Given the description of an element on the screen output the (x, y) to click on. 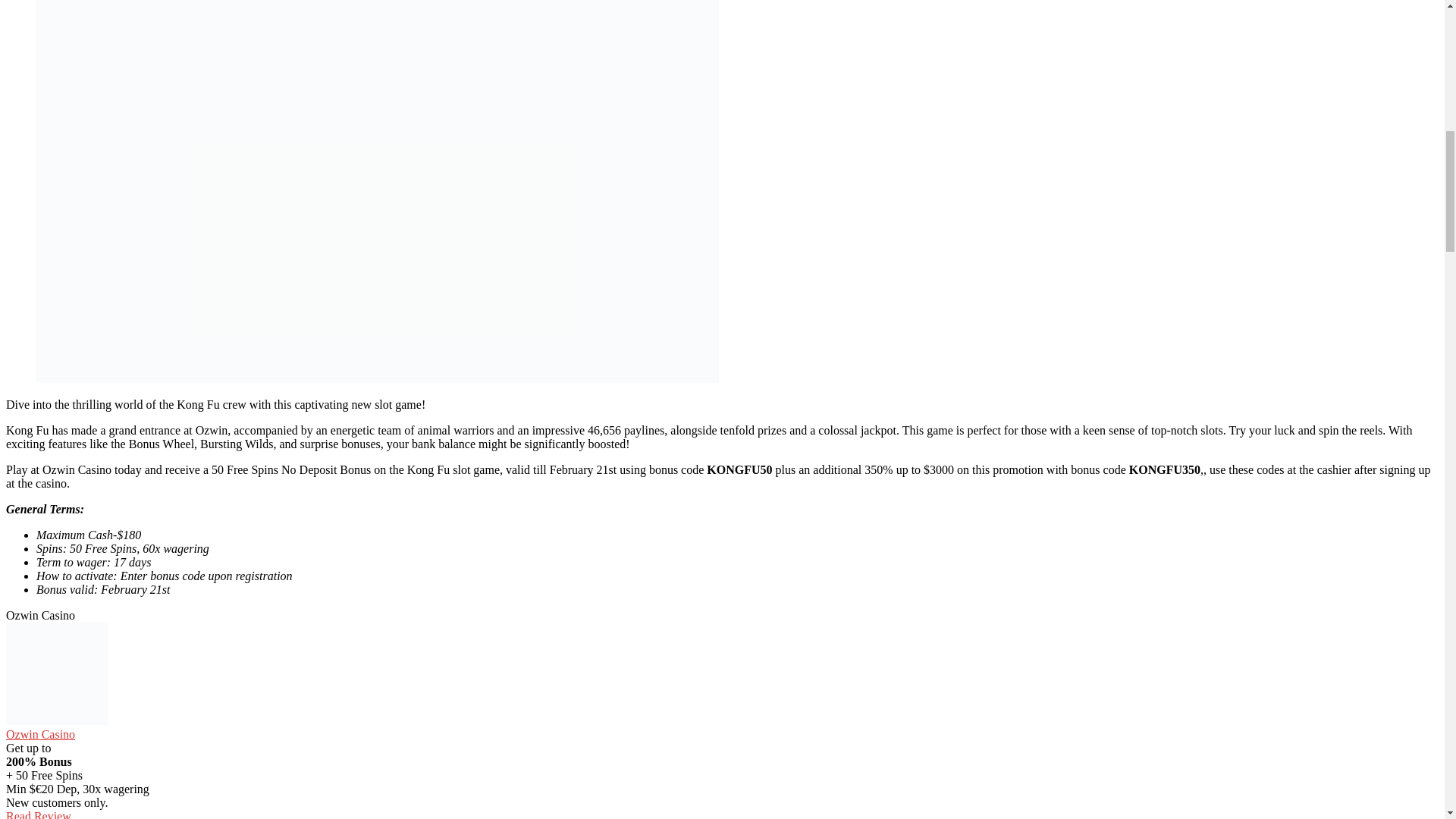
Read Review (38, 814)
Read Review (38, 814)
Ozwin Casino (40, 734)
Ozwin Casino (56, 720)
Ozwin Casino (40, 734)
